Given the description of an element on the screen output the (x, y) to click on. 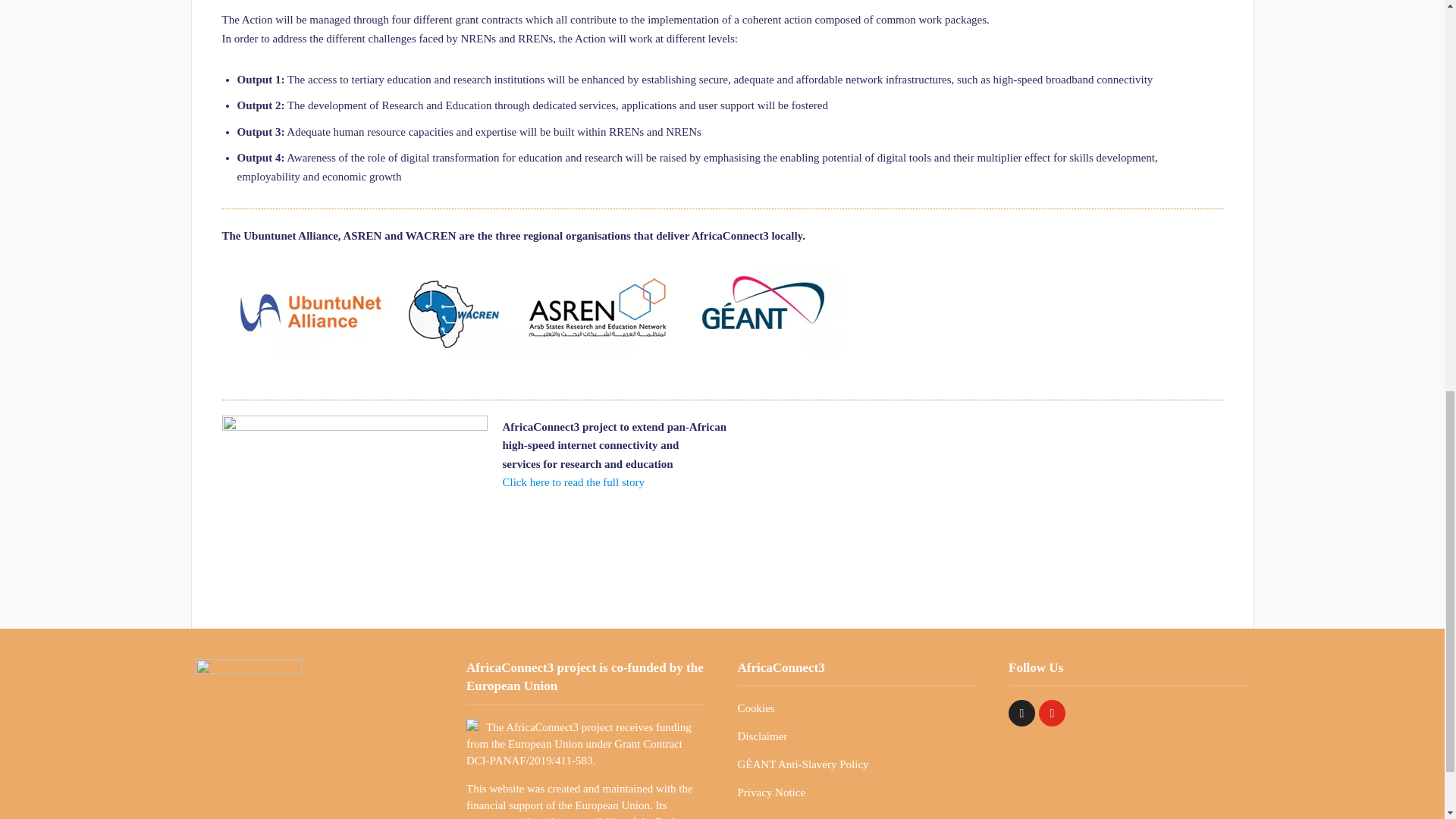
Privacy Notice (770, 792)
Cookies (755, 707)
YouTube (1052, 713)
Disclaimer (761, 736)
